Given the description of an element on the screen output the (x, y) to click on. 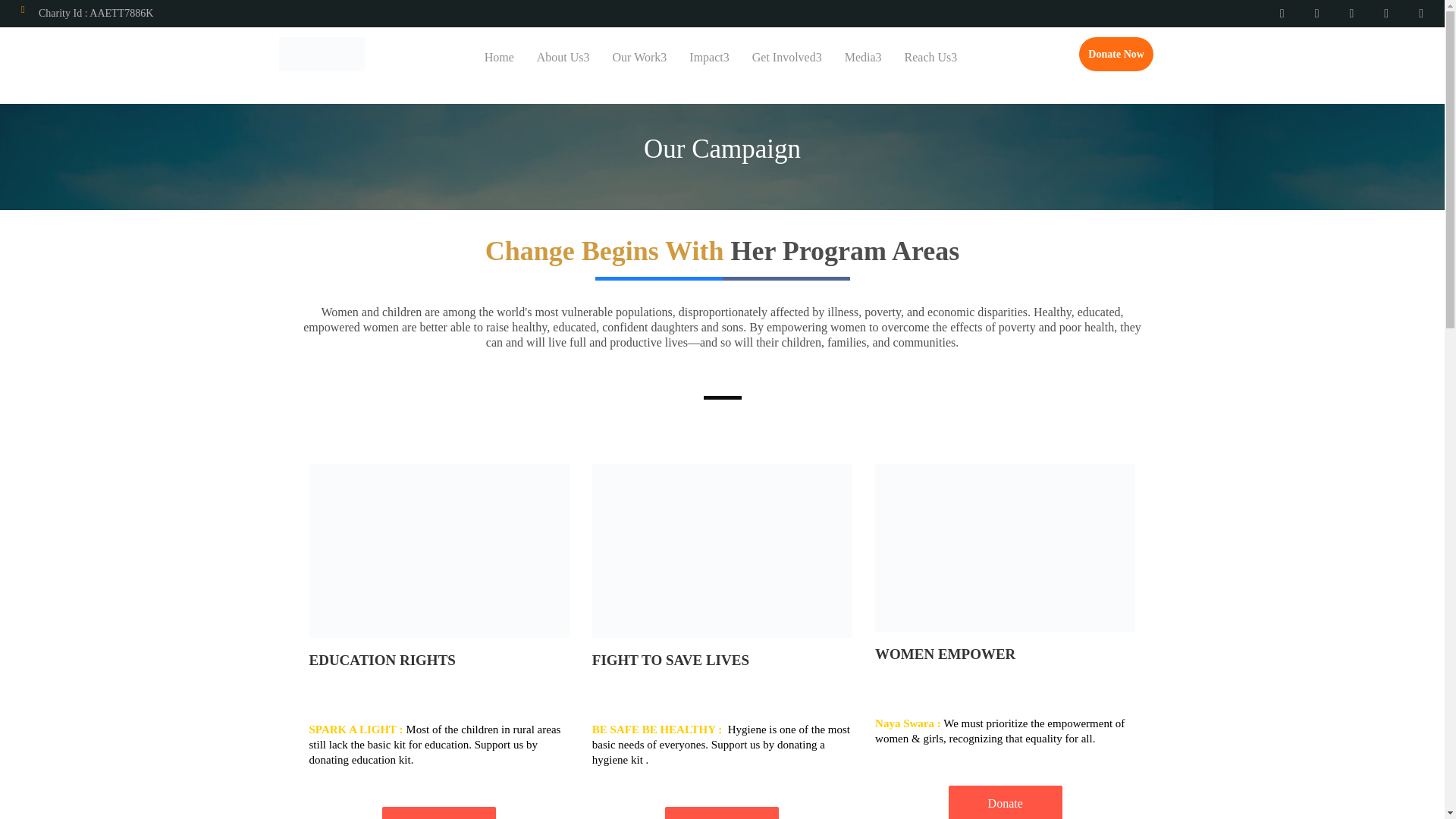
About Us (563, 57)
Our Work (639, 57)
Get Involved (787, 57)
About Us (563, 57)
Home (498, 57)
Our Work (639, 57)
Charity Id : AAETT7886K (95, 12)
Impact (708, 57)
Home (498, 57)
